Given the description of an element on the screen output the (x, y) to click on. 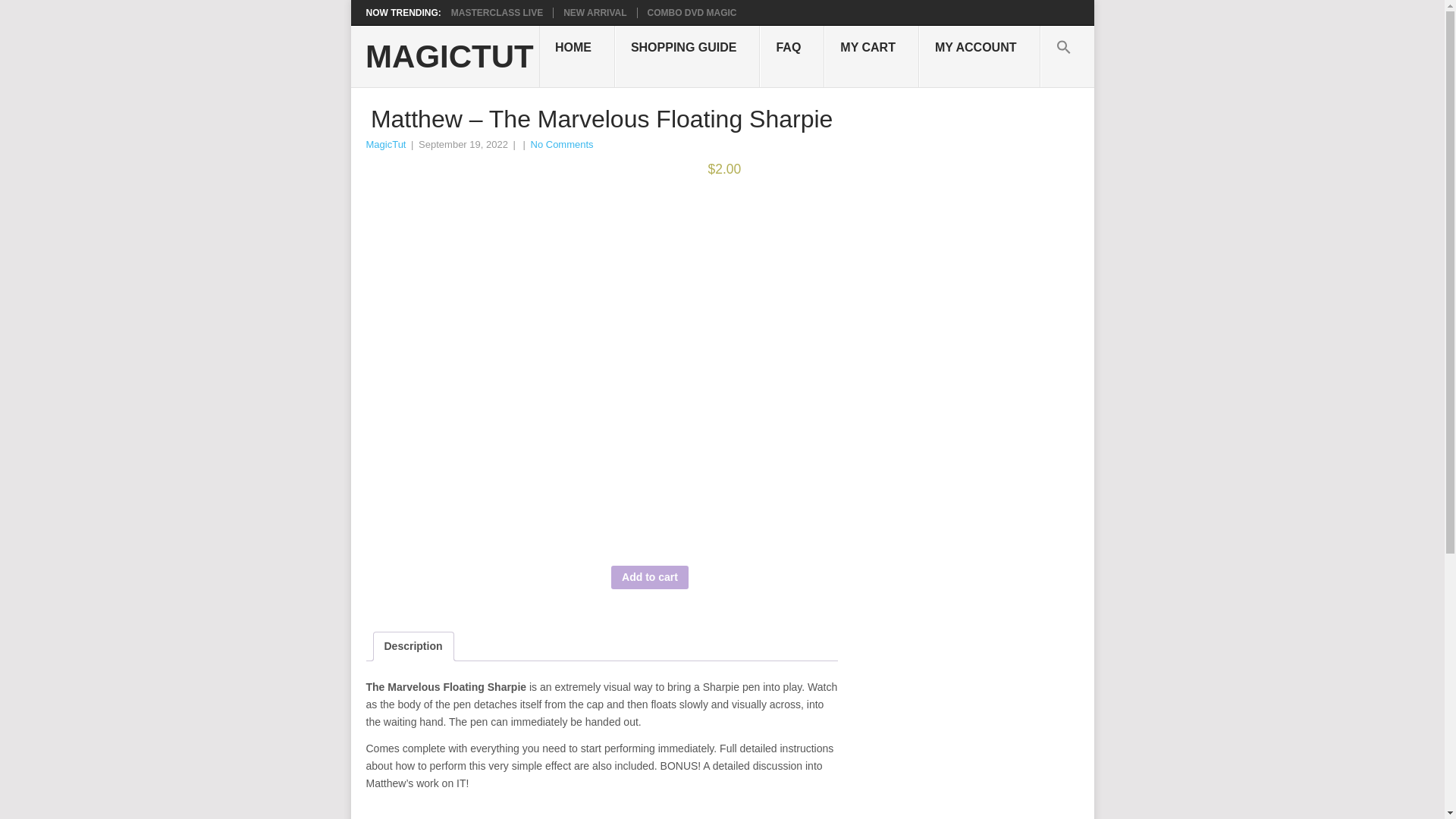
Posts by MagicTut (385, 143)
SHOPPING GUIDE (687, 56)
NEW ARRIVAL (594, 12)
Description (413, 646)
THE MARVELOUS FLOATING SHARPIE by Matthew Wright (724, 369)
MAGICTUT (449, 56)
New Arrival (594, 12)
COMBO DVD MAGIC (691, 12)
MASTERCLASS LIVE (497, 12)
FAQ (792, 56)
Masterclass Live (497, 12)
MagicTut (385, 143)
No Comments (562, 143)
Add to cart (649, 576)
MY CART (871, 56)
